Given the description of an element on the screen output the (x, y) to click on. 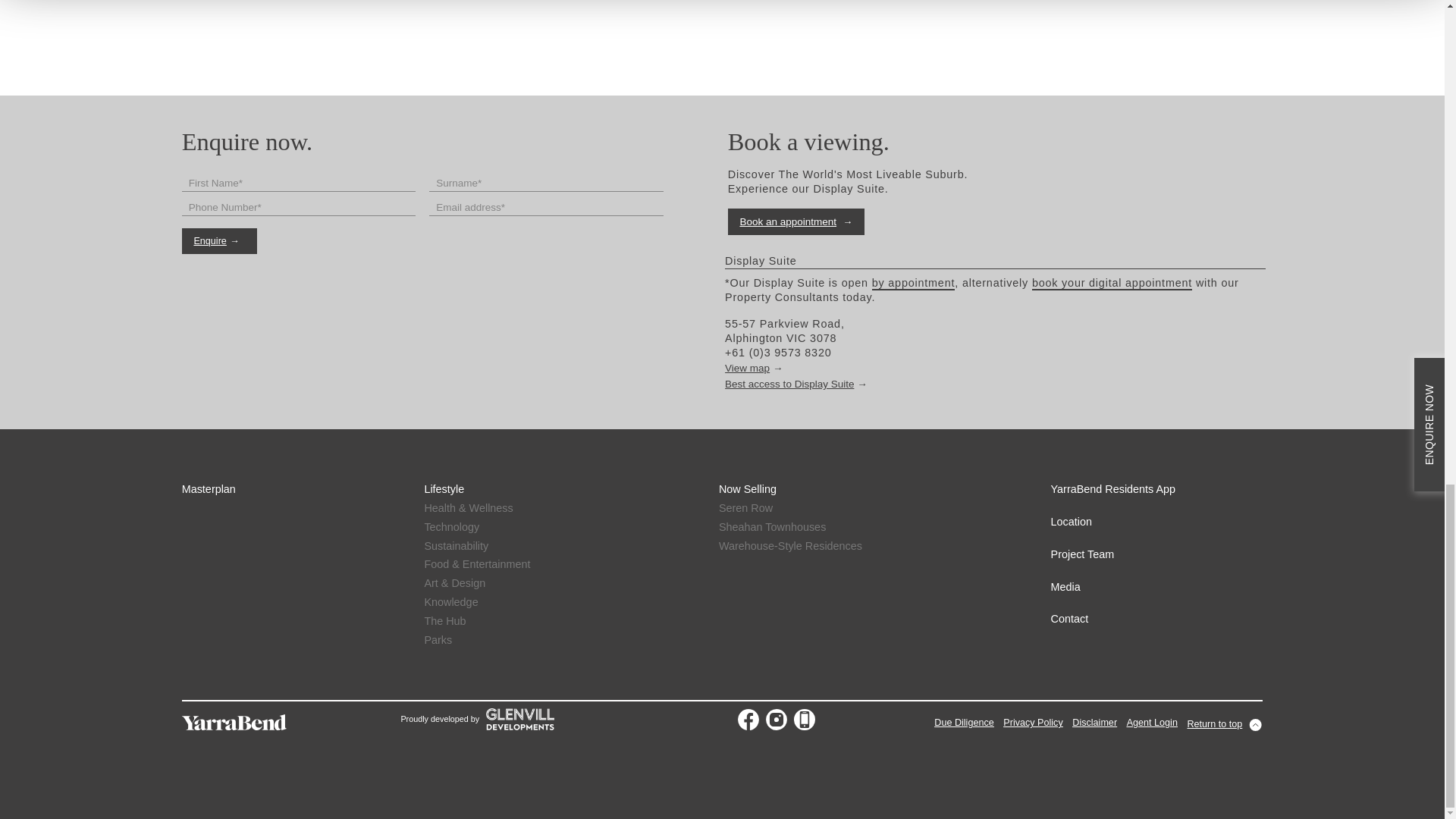
by appointment (913, 283)
Book an appointment (796, 221)
book your digital appointment (1112, 283)
Enquire (219, 240)
